Given the description of an element on the screen output the (x, y) to click on. 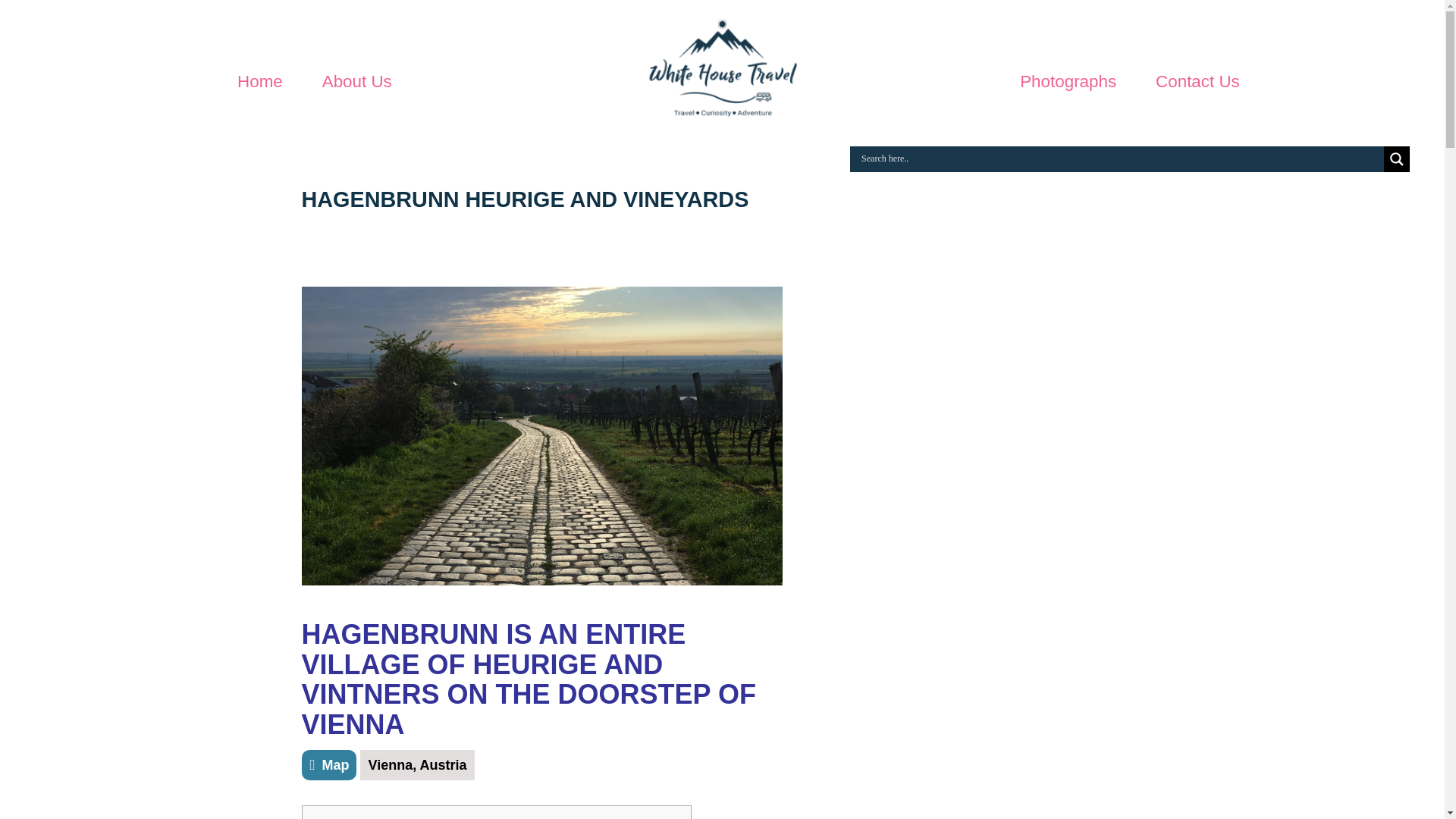
Vienna, Austria (416, 765)
Photographs (1067, 81)
Home (259, 81)
Contact Us (1197, 81)
About Us (356, 81)
White House Travel (721, 74)
Map (328, 765)
